Given the description of an element on the screen output the (x, y) to click on. 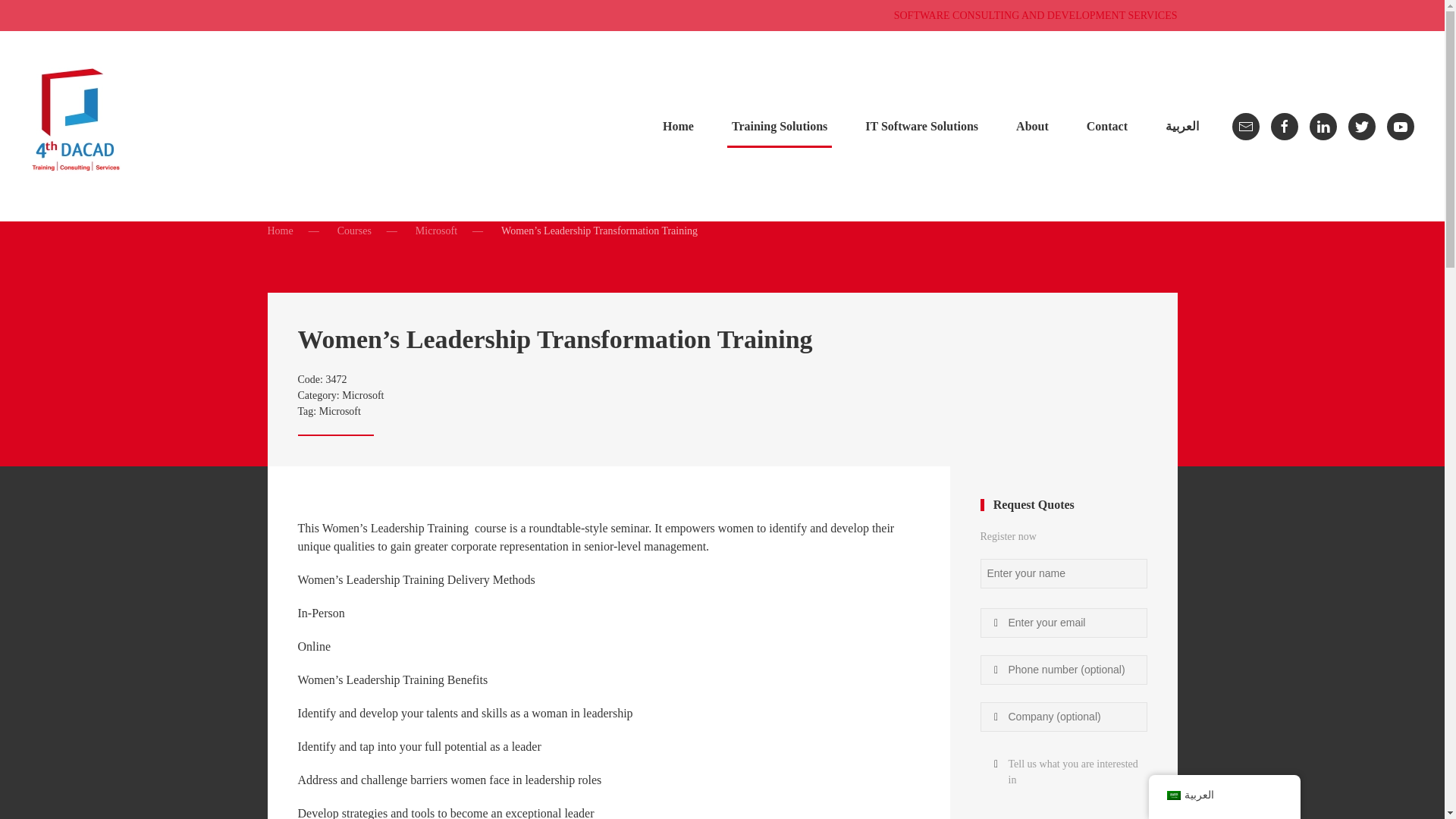
Courses (722, 395)
IT Software Solutions (354, 230)
Microsoft (921, 125)
Training Solutions (363, 395)
Home (778, 125)
SOFTWARE CONSULTING AND DEVELOPMENT SERVICES (279, 230)
Microsoft (1035, 15)
Microsoft (435, 230)
